Given the description of an element on the screen output the (x, y) to click on. 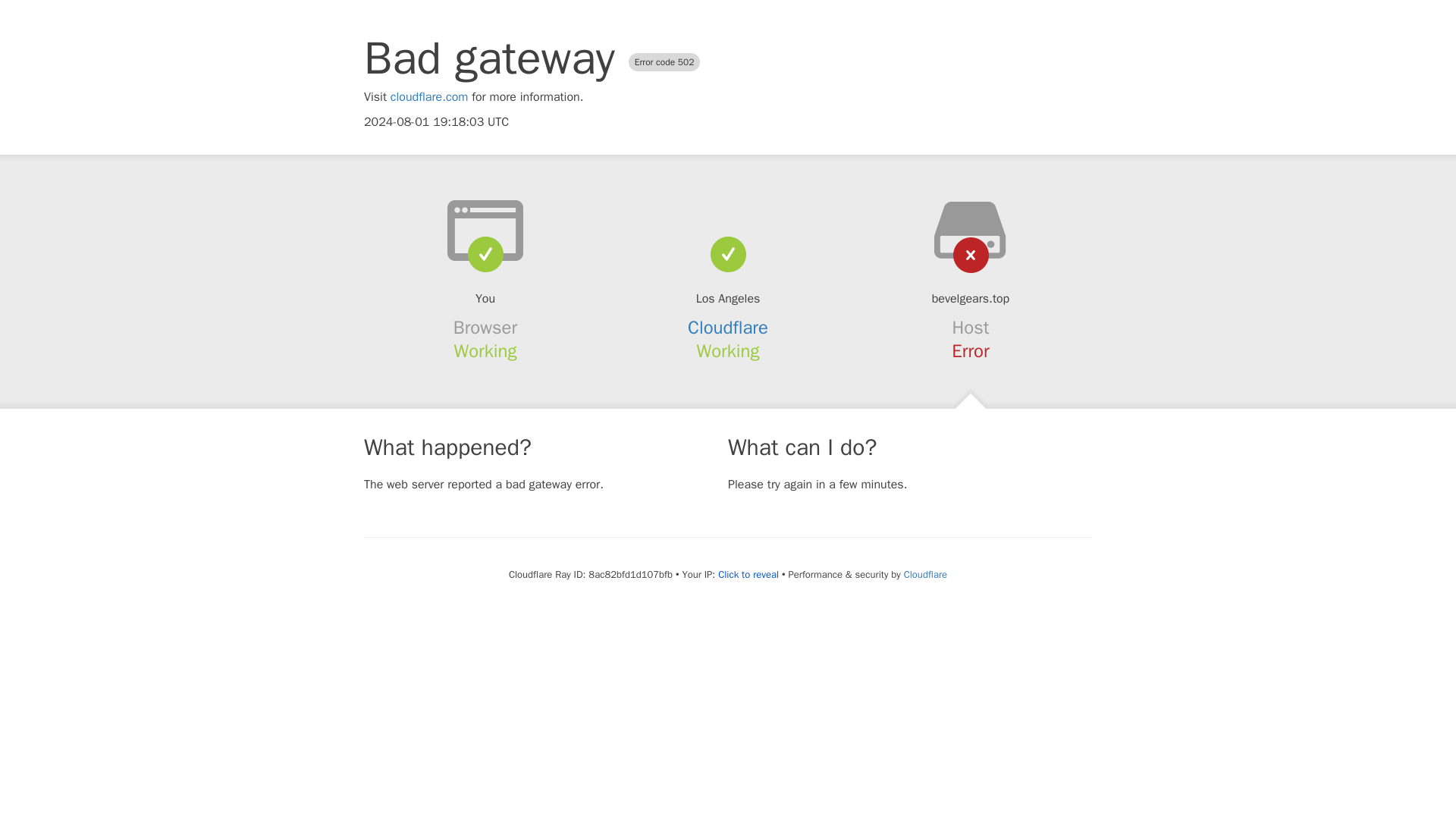
cloudflare.com (429, 96)
Click to reveal (747, 574)
Cloudflare (925, 574)
Cloudflare (727, 327)
